Given the description of an element on the screen output the (x, y) to click on. 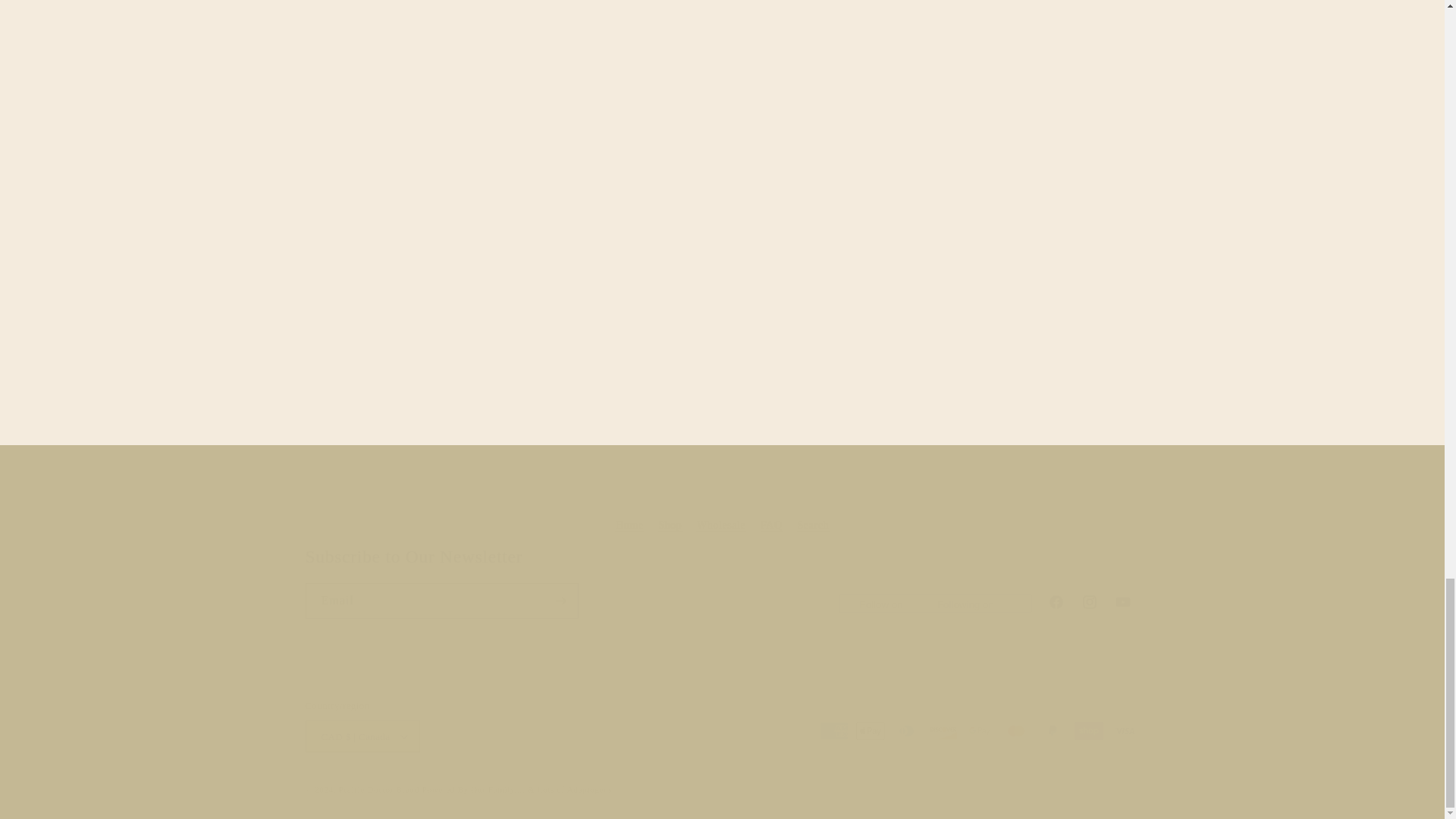
Home Shop Wholesale FAQ Search (721, 524)
Home Shop Wholesale FAQ Search (721, 509)
